Given the description of an element on the screen output the (x, y) to click on. 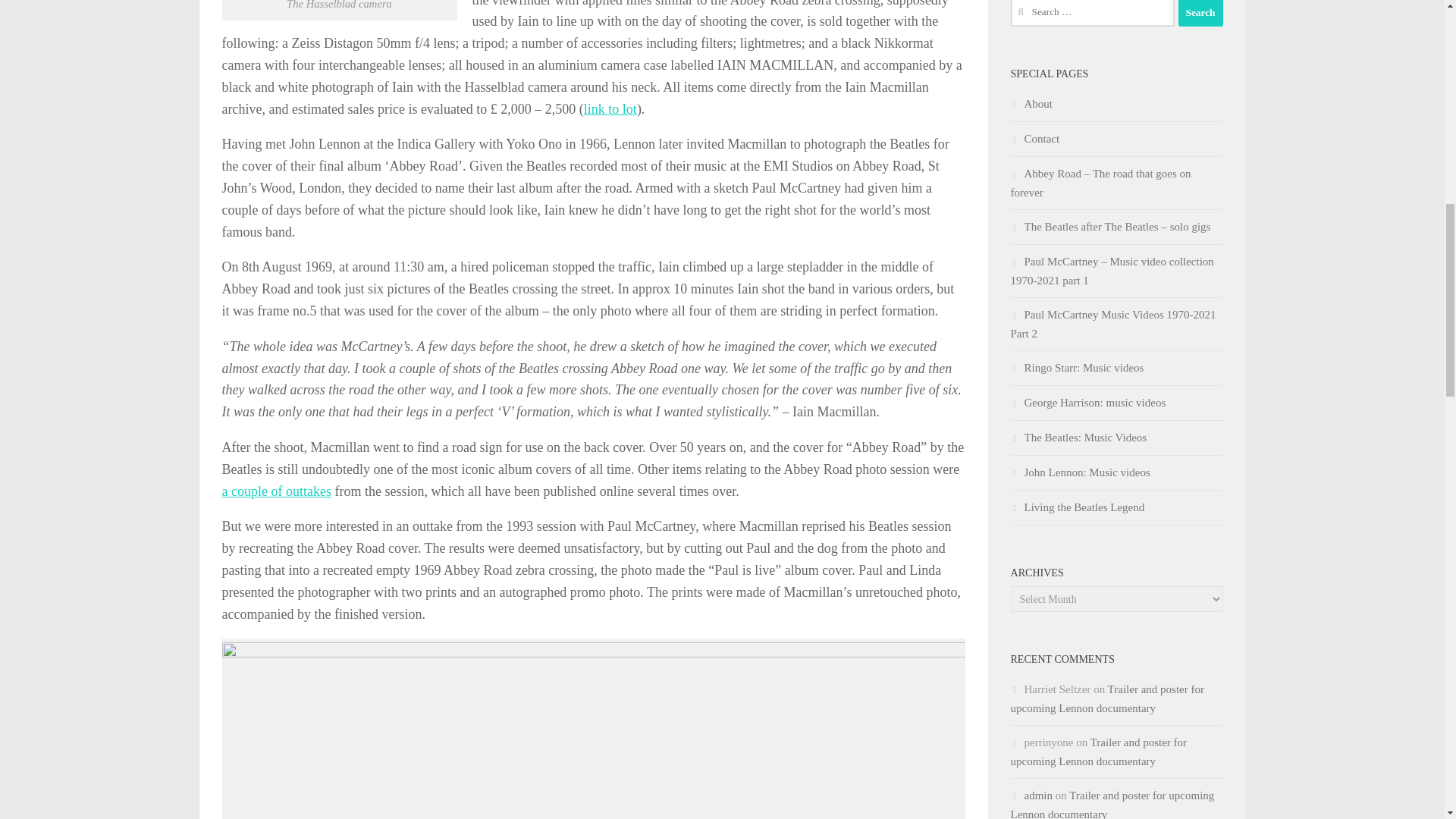
Search (1200, 13)
Search (1200, 13)
link to lot (610, 109)
a couple of outtakes (275, 491)
